Given the description of an element on the screen output the (x, y) to click on. 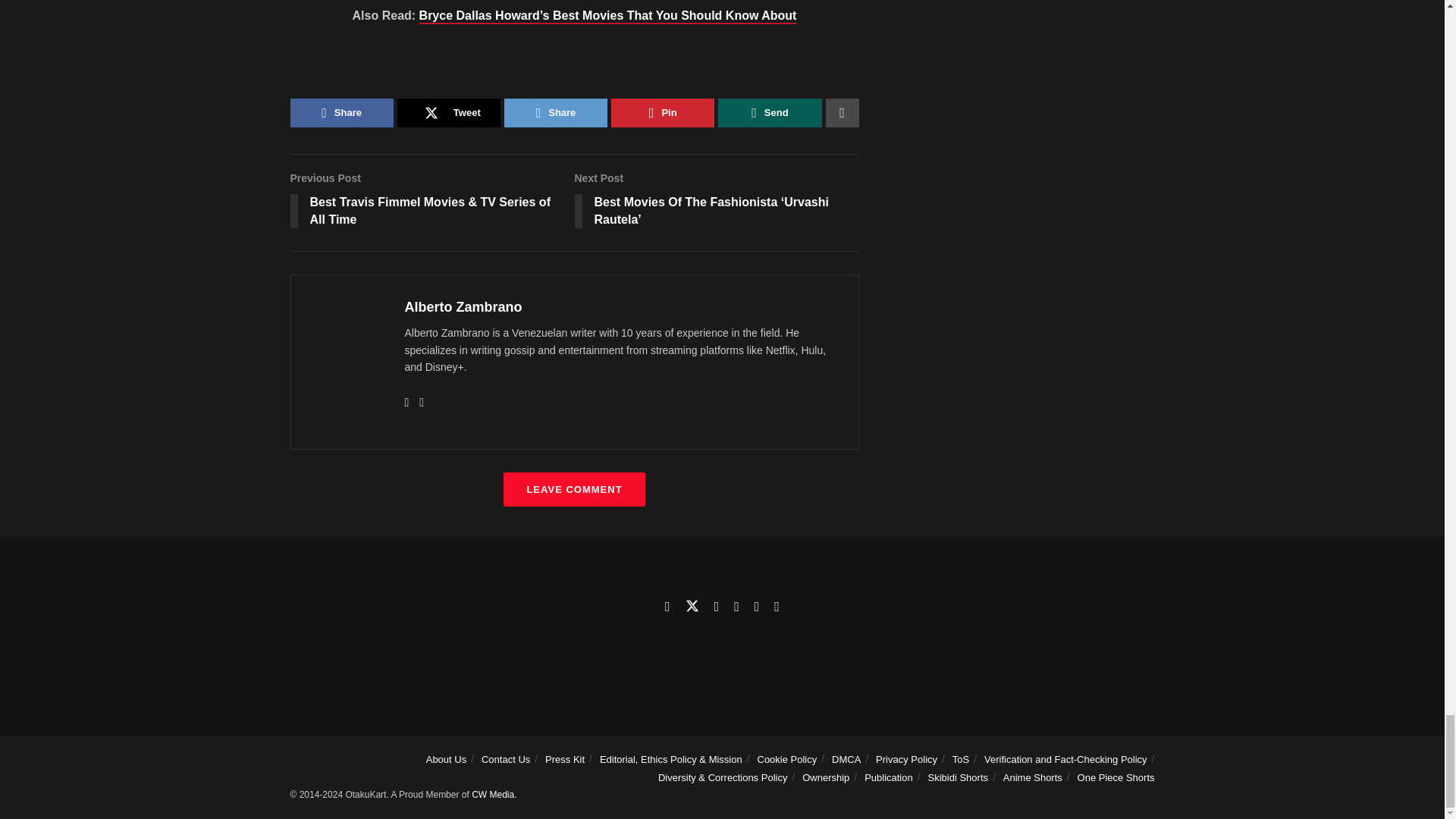
Alberto Zambrano (463, 306)
Share (555, 112)
Share (341, 112)
Send (769, 112)
Pin (662, 112)
Tweet (448, 112)
